Given the description of an element on the screen output the (x, y) to click on. 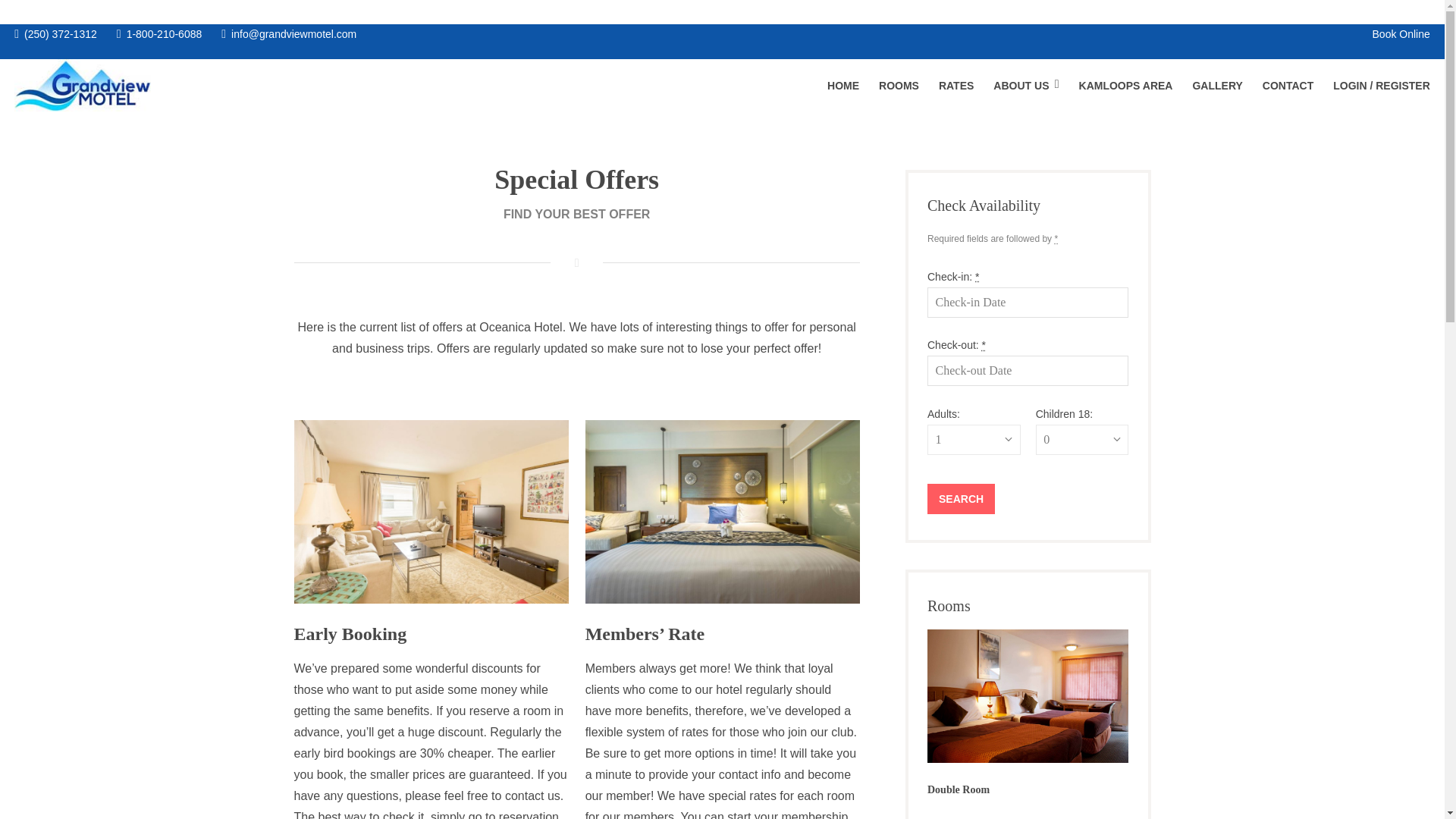
RATES (956, 85)
Search (960, 499)
GRANDVIEW MOTEL (320, 98)
Early Booking (350, 633)
GALLERY (1216, 85)
ROOMS (898, 85)
KAMLOOPS AREA (1125, 85)
ABOUT US (1025, 85)
HOME (843, 85)
1-800-210-6088 (159, 34)
Book Online (1401, 34)
CONTACT (1287, 85)
